Given the description of an element on the screen output the (x, y) to click on. 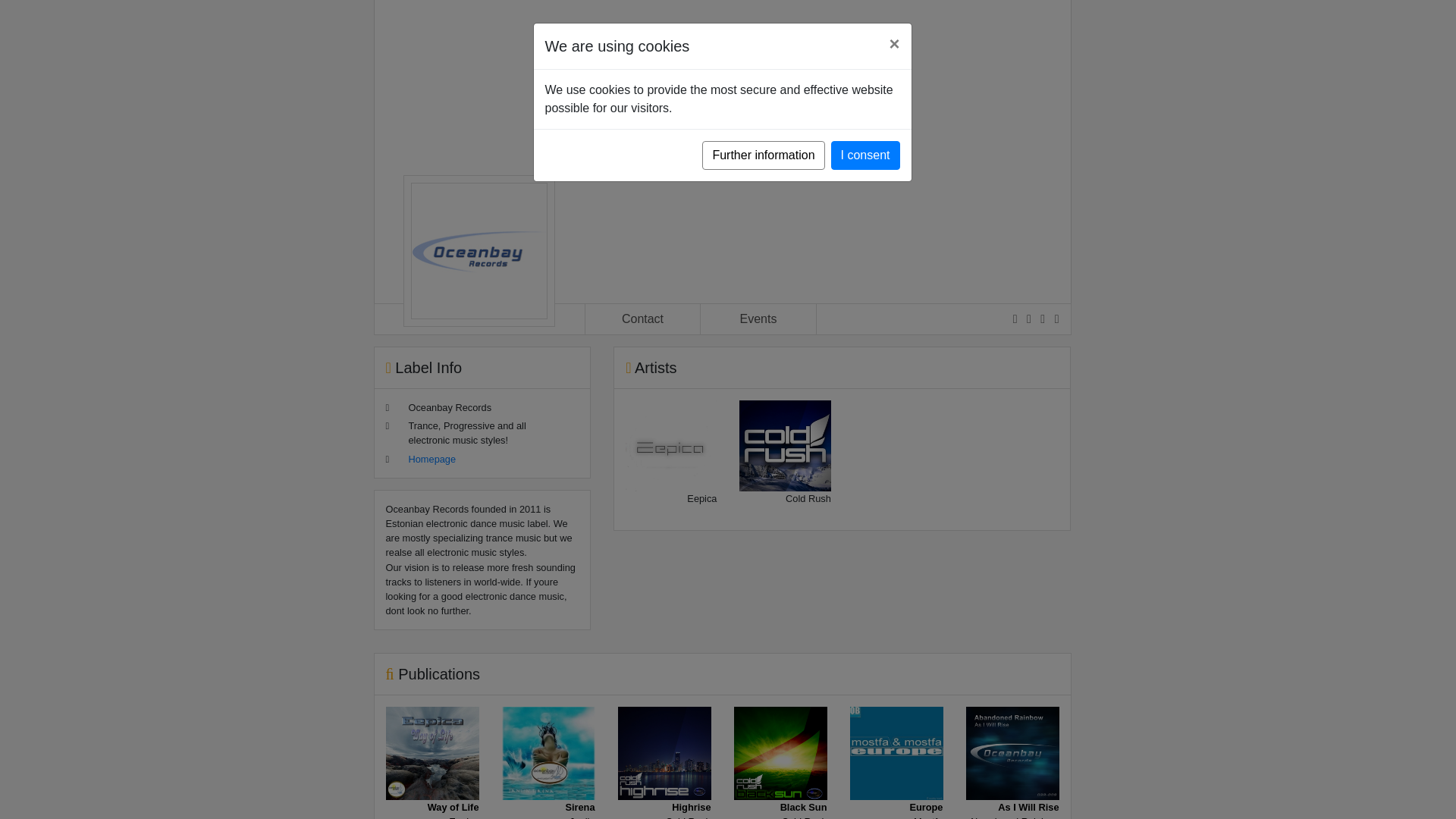
Further information (762, 154)
Contact (1012, 782)
Homepage (642, 318)
Events (432, 782)
I consent (548, 782)
